Given the description of an element on the screen output the (x, y) to click on. 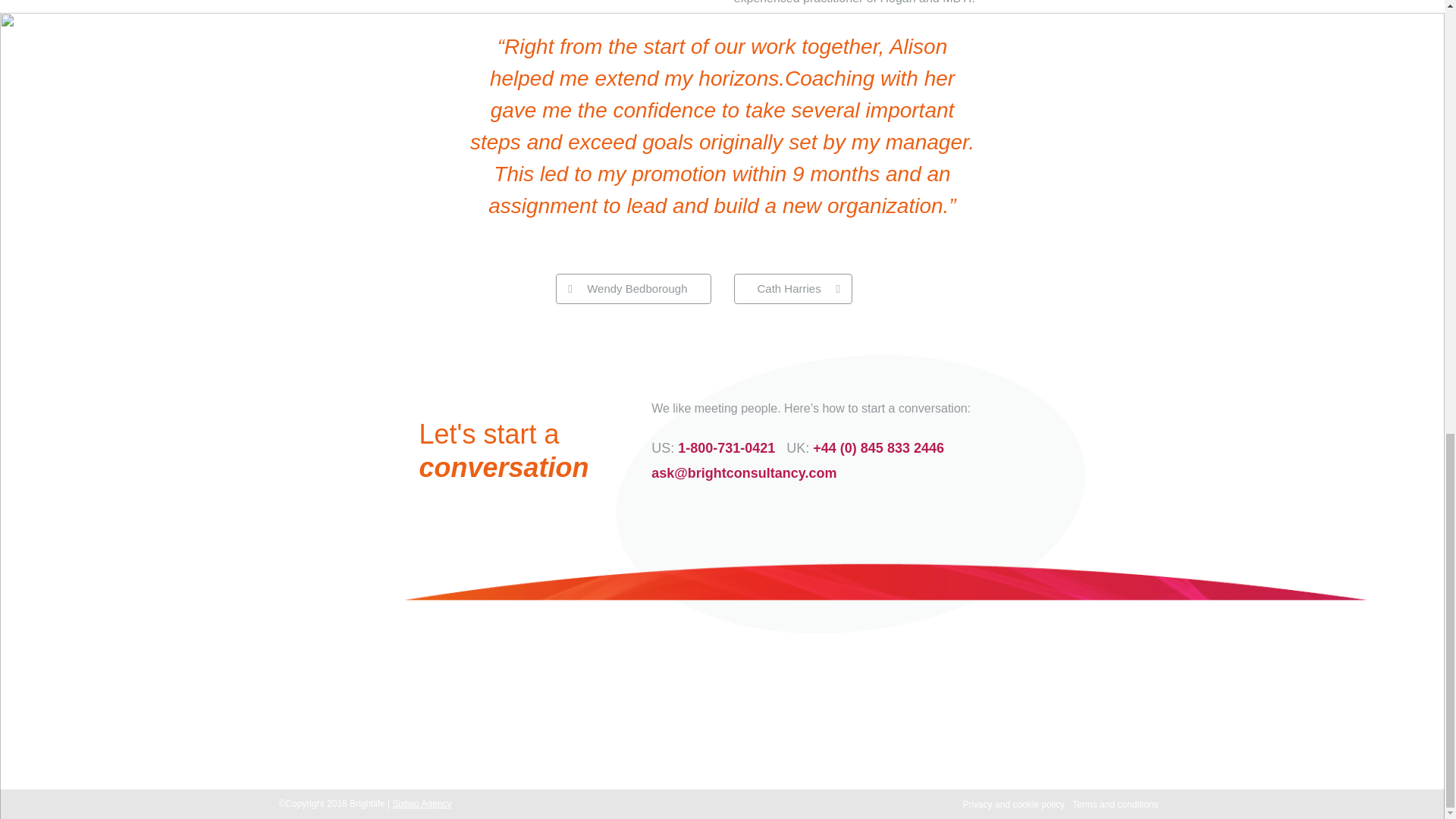
Privacy and cookie policy (1013, 804)
Wendy Bedborough (633, 288)
Sixtwo Agency (422, 803)
Terms and conditions (1114, 804)
1-800-731-0421 (726, 447)
Cath Harries (792, 288)
1-800-731-0421 (553, 729)
